Given the description of an element on the screen output the (x, y) to click on. 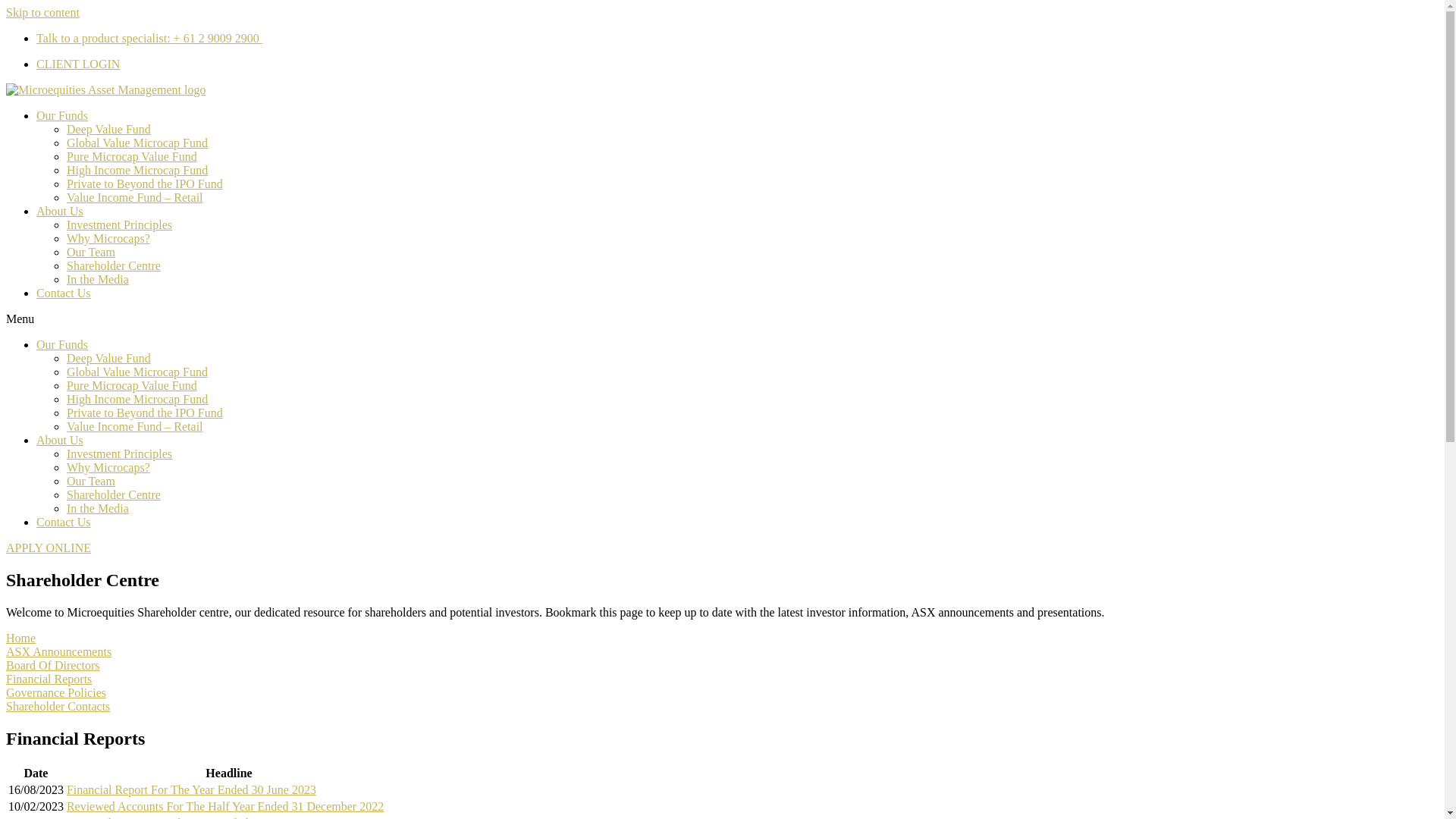
Contact Us Element type: text (67, 292)
Shareholder Centre Element type: text (117, 494)
Global Value Microcap Fund Element type: text (140, 371)
Reviewed Accounts For The Half Year Ended 31 December 2022 Element type: text (228, 806)
Our Team Element type: text (94, 251)
Governance Policies Element type: text (59, 692)
Pure Microcap Value Fund Element type: text (135, 385)
About Us Element type: text (63, 439)
Global Value Microcap Fund Element type: text (140, 142)
Financial Reports Element type: text (52, 678)
Investment Principles Element type: text (122, 453)
APPLY ONLINE Element type: text (52, 547)
Our Team Element type: text (94, 480)
Deep Value Fund Element type: text (112, 128)
Private to Beyond the IPO Fund Element type: text (148, 412)
Talk to a product specialist: + 61 2 9009 2900 Element type: text (152, 37)
Skip to content Element type: text (46, 12)
Shareholder Centre Element type: text (117, 265)
ASX Announcements Element type: text (62, 651)
Private to Beyond the IPO Fund Element type: text (148, 183)
CLIENT LOGIN Element type: text (81, 63)
About Us Element type: text (63, 210)
Investment Principles Element type: text (122, 224)
Contact Us Element type: text (67, 521)
High Income Microcap Fund Element type: text (140, 398)
High Income Microcap Fund Element type: text (140, 169)
Why Microcaps? Element type: text (111, 467)
Shareholder Contacts Element type: text (61, 705)
Our Funds Element type: text (65, 344)
In the Media Element type: text (101, 508)
Why Microcaps? Element type: text (111, 238)
In the Media Element type: text (101, 279)
Home Element type: text (24, 637)
Deep Value Fund Element type: text (112, 357)
Financial Report For The Year Ended 30 June 2023 Element type: text (194, 789)
Pure Microcap Value Fund Element type: text (135, 156)
Our Funds Element type: text (65, 115)
Board Of Directors Element type: text (56, 664)
